Given the description of an element on the screen output the (x, y) to click on. 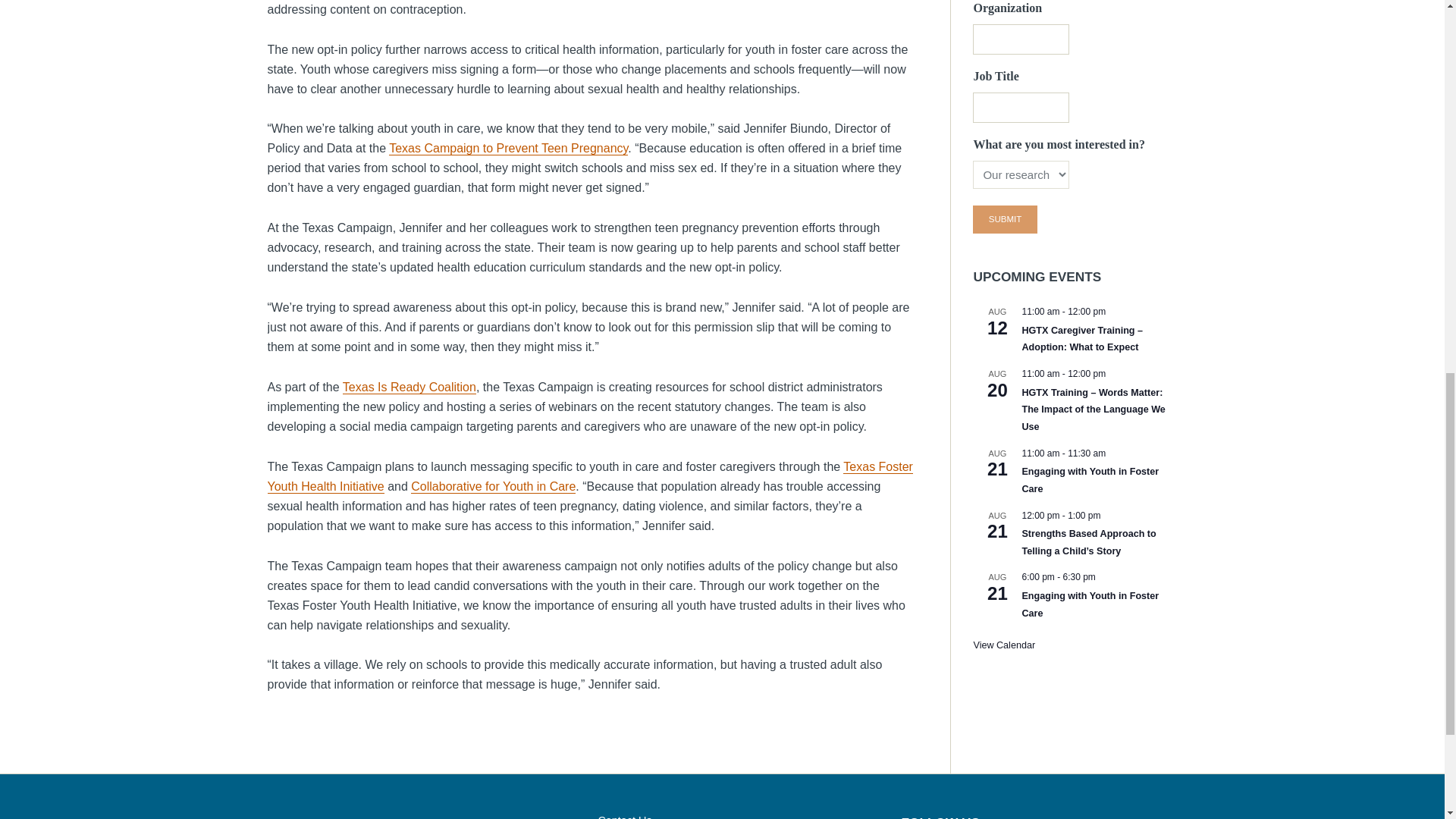
Engaging with Youth in Foster Care (1090, 604)
Submit (1004, 219)
View more events. (1003, 644)
Engaging with Youth in Foster Care (1090, 480)
